Given the description of an element on the screen output the (x, y) to click on. 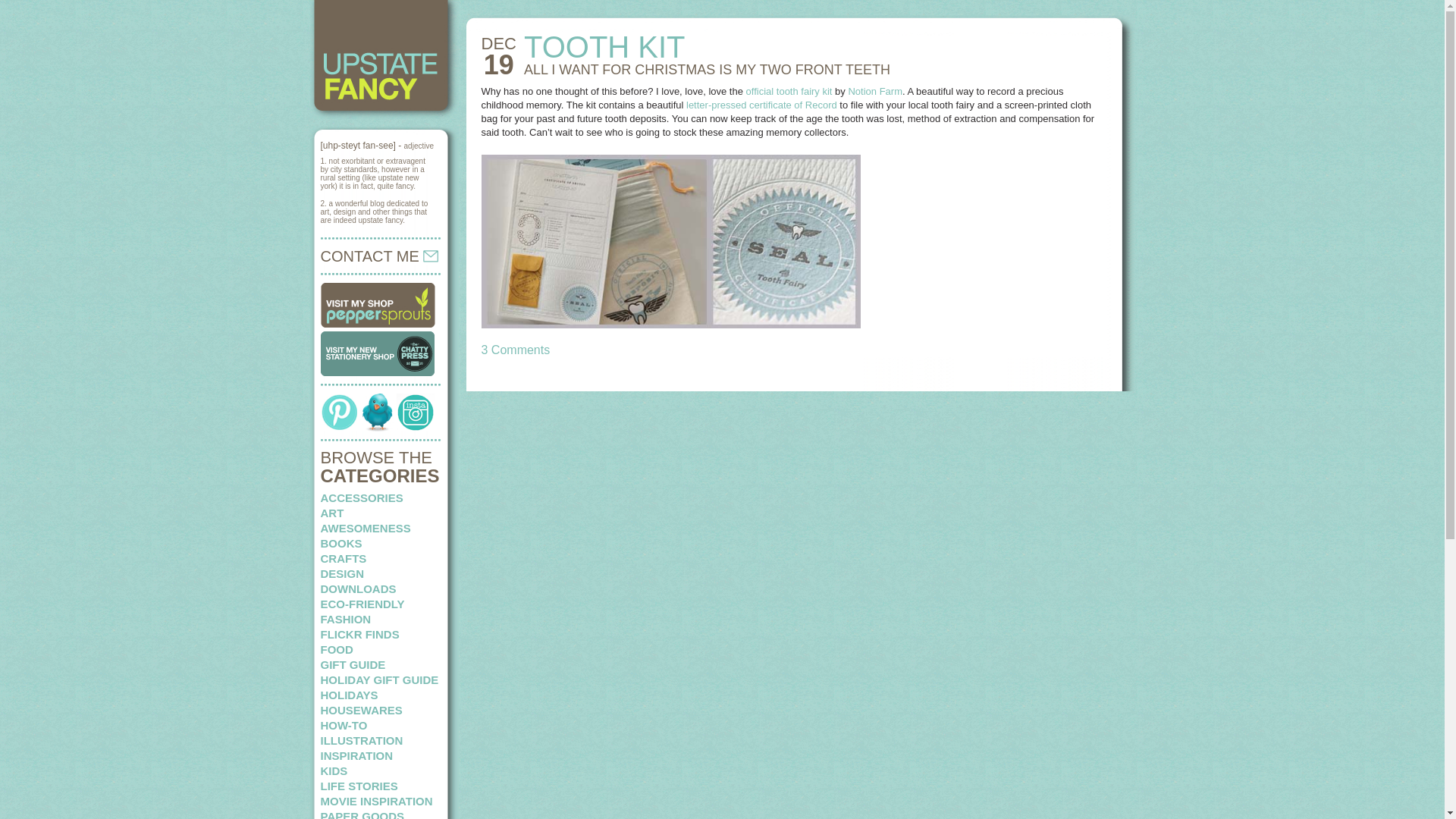
MOVIE INSPIRATION (376, 800)
LIFE STORIES (358, 785)
HOUSEWARES (360, 709)
DOWNLOADS (358, 588)
BOOKS (340, 543)
HOW-TO (343, 725)
ART (331, 512)
HOLIDAY GIFT GUIDE (379, 679)
FASHION (345, 618)
GIFT GUIDE (352, 664)
